Given the description of an element on the screen output the (x, y) to click on. 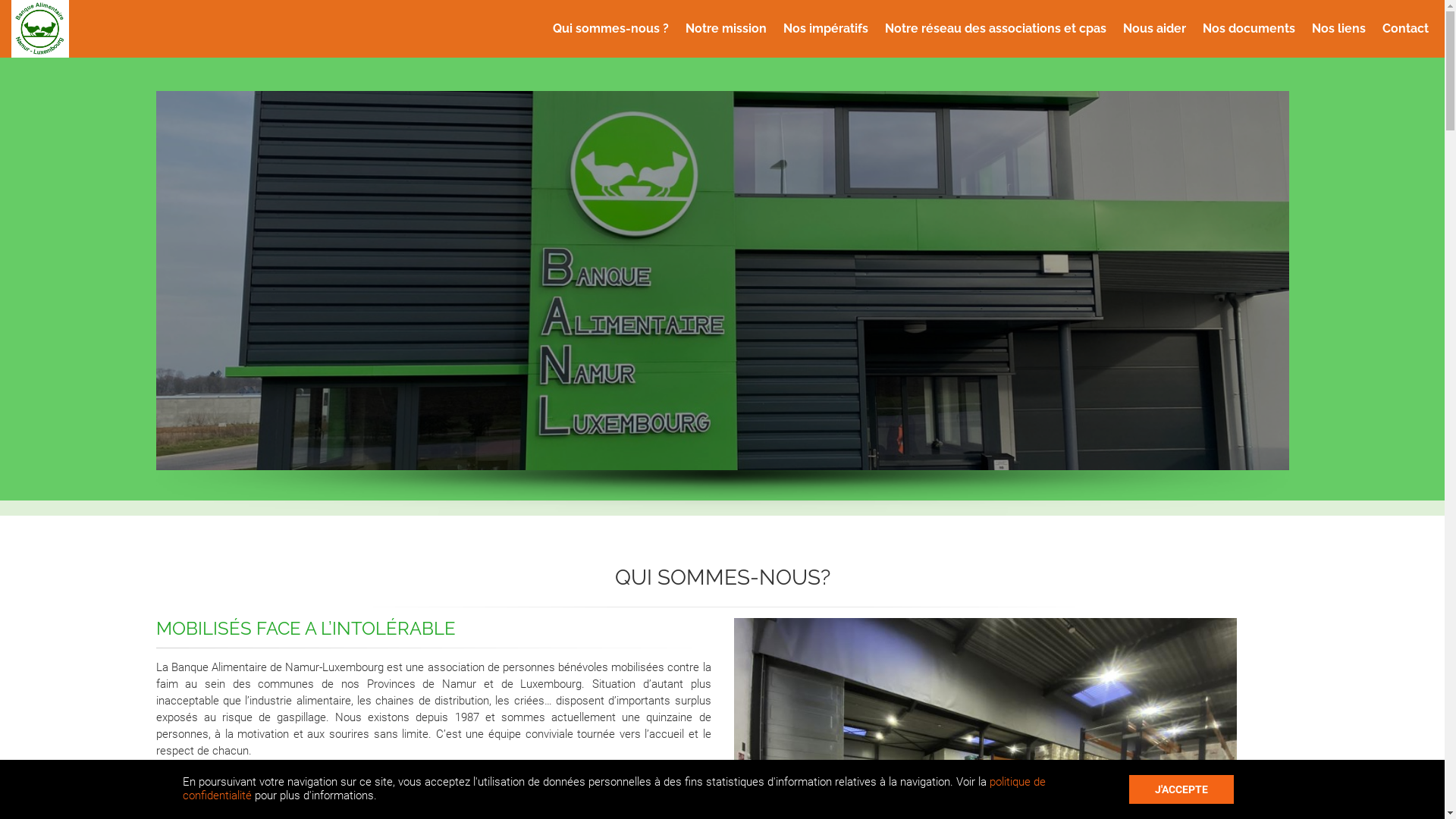
Notre mission Element type: text (725, 28)
Qui sommes-nous ? Element type: text (610, 28)
J'ACCEPTE Element type: text (1181, 789)
Contact Element type: text (1405, 28)
Nous aider Element type: text (1154, 28)
Nos documents Element type: text (1248, 28)
Nos liens Element type: text (1338, 28)
